Given the description of an element on the screen output the (x, y) to click on. 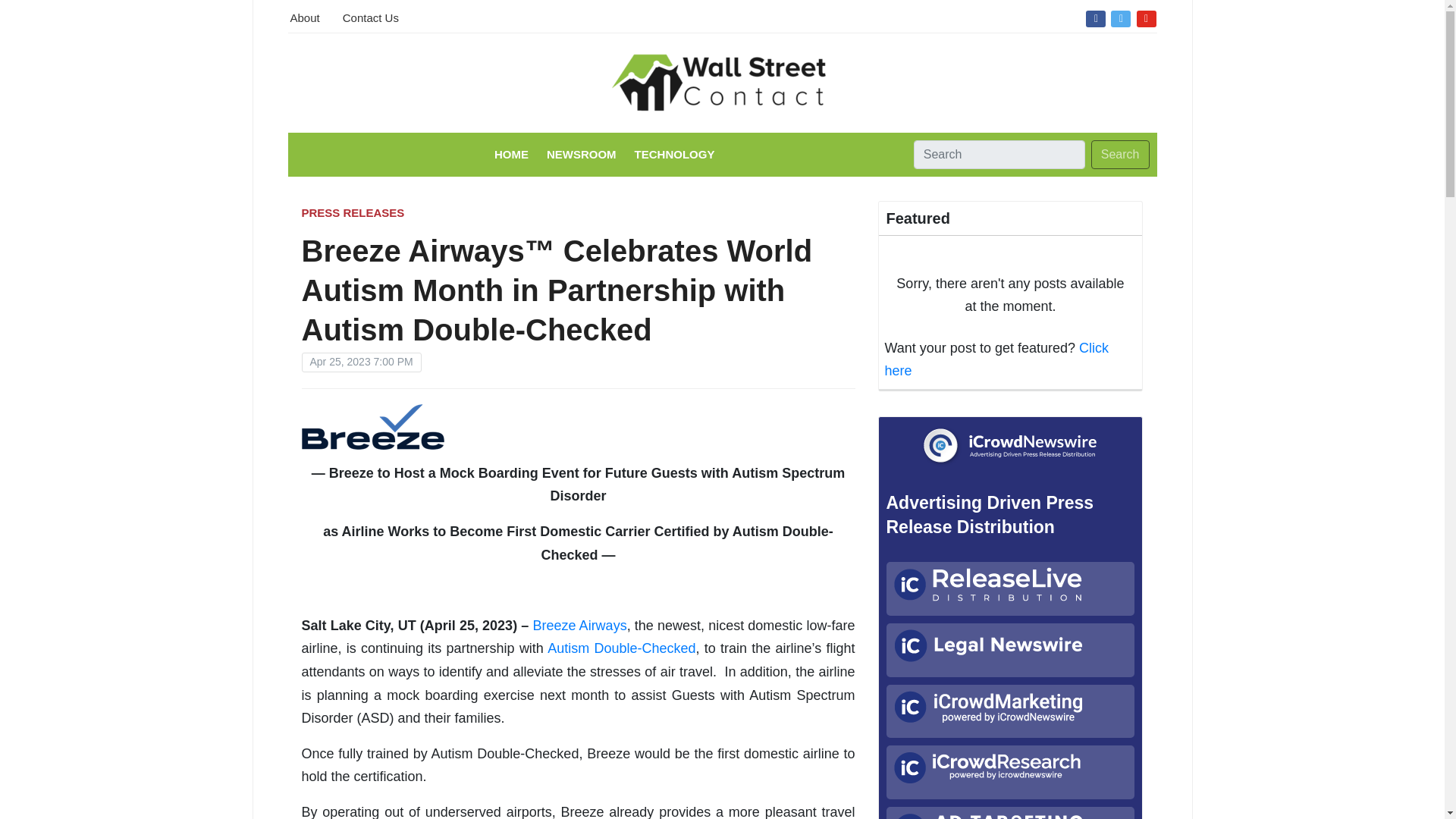
NEWSROOM (581, 154)
Breeze Airways (579, 625)
Contact Us (370, 15)
Twitter (1120, 17)
TECHNOLOGY (674, 154)
HOME (511, 154)
Autism Double-Checked (621, 648)
About (303, 15)
Search (1120, 154)
Facebook (1095, 17)
PRESS RELEASES (352, 212)
Youtube (1146, 17)
